Given the description of an element on the screen output the (x, y) to click on. 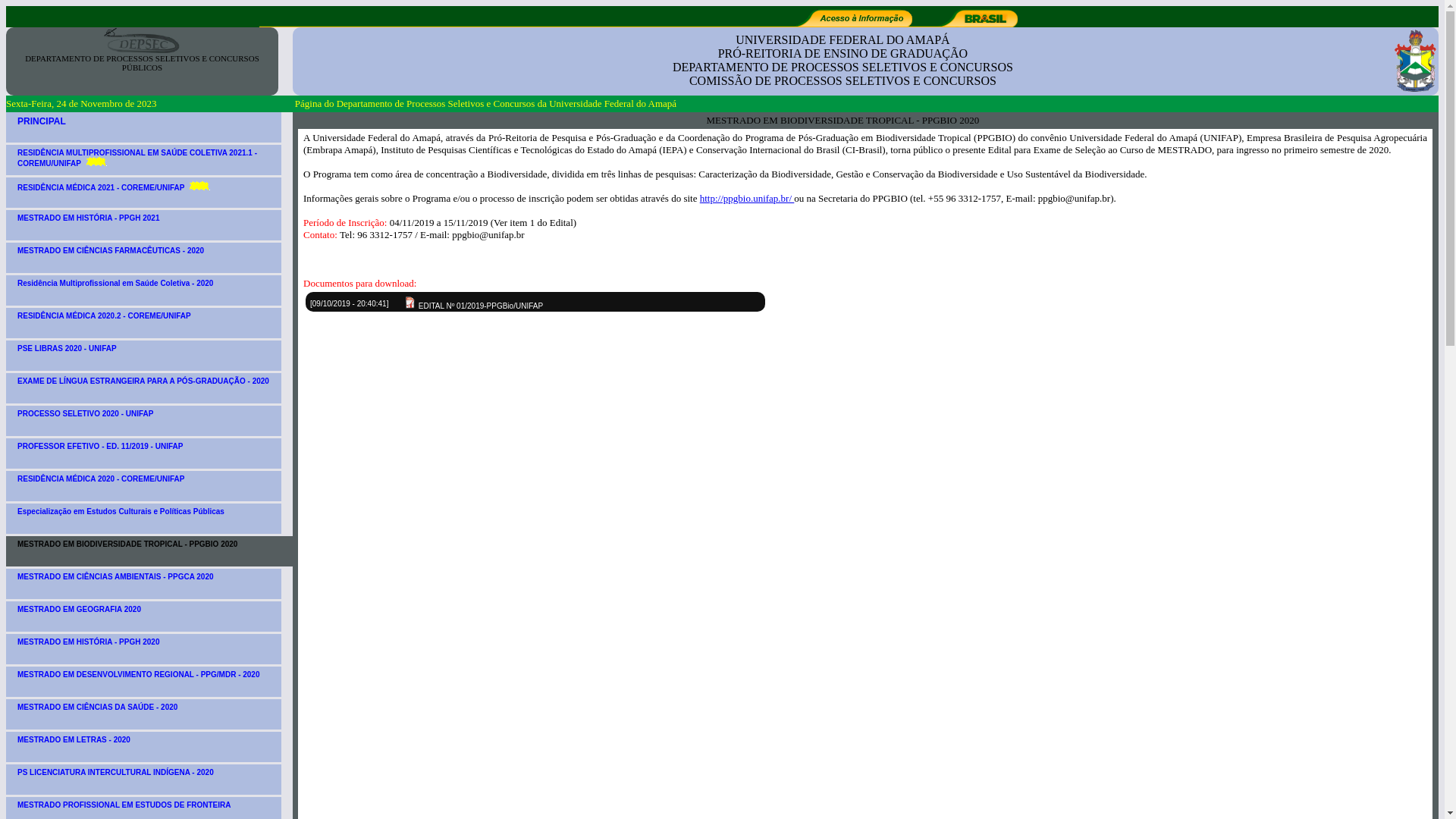
MESTRADO EM GEOGRAFIA 2020 Element type: text (143, 616)
MESTRADO EM LETRAS - 2020 Element type: text (143, 746)
PRINCIPAL Element type: text (143, 127)
PROCESSO SELETIVO 2020 - UNIFAP Element type: text (143, 420)
PSE LIBRAS 2020 - UNIFAP Element type: text (143, 355)
MESTRADO EM BIODIVERSIDADE TROPICAL - PPGBIO 2020 Element type: text (150, 551)
PROFESSOR EFETIVO - ED. 11/2019 - UNIFAP Element type: text (143, 453)
MESTRADO EM DESENVOLVIMENTO REGIONAL - PPG/MDR - 2020 Element type: text (143, 681)
